Given the description of an element on the screen output the (x, y) to click on. 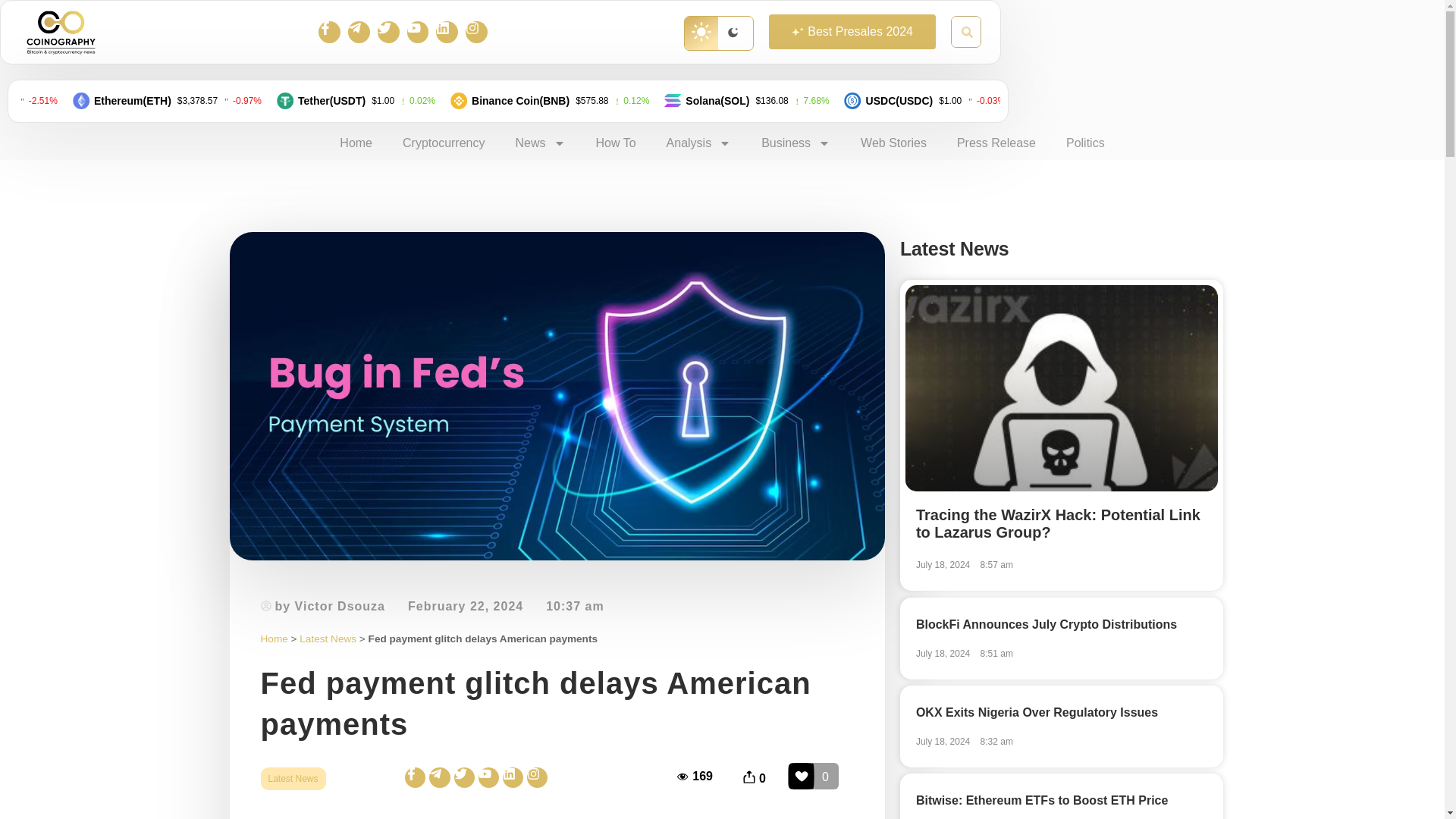
Instagram (476, 32)
Twitter (387, 32)
How To (615, 142)
Business (795, 142)
Cryptocurrency (443, 142)
Facebook-f (329, 32)
Linkedin (446, 32)
Youtube (418, 32)
Telegram-plane (358, 32)
Analysis (698, 142)
News (540, 142)
Best Presales 2024 (852, 31)
Home (355, 142)
